Given the description of an element on the screen output the (x, y) to click on. 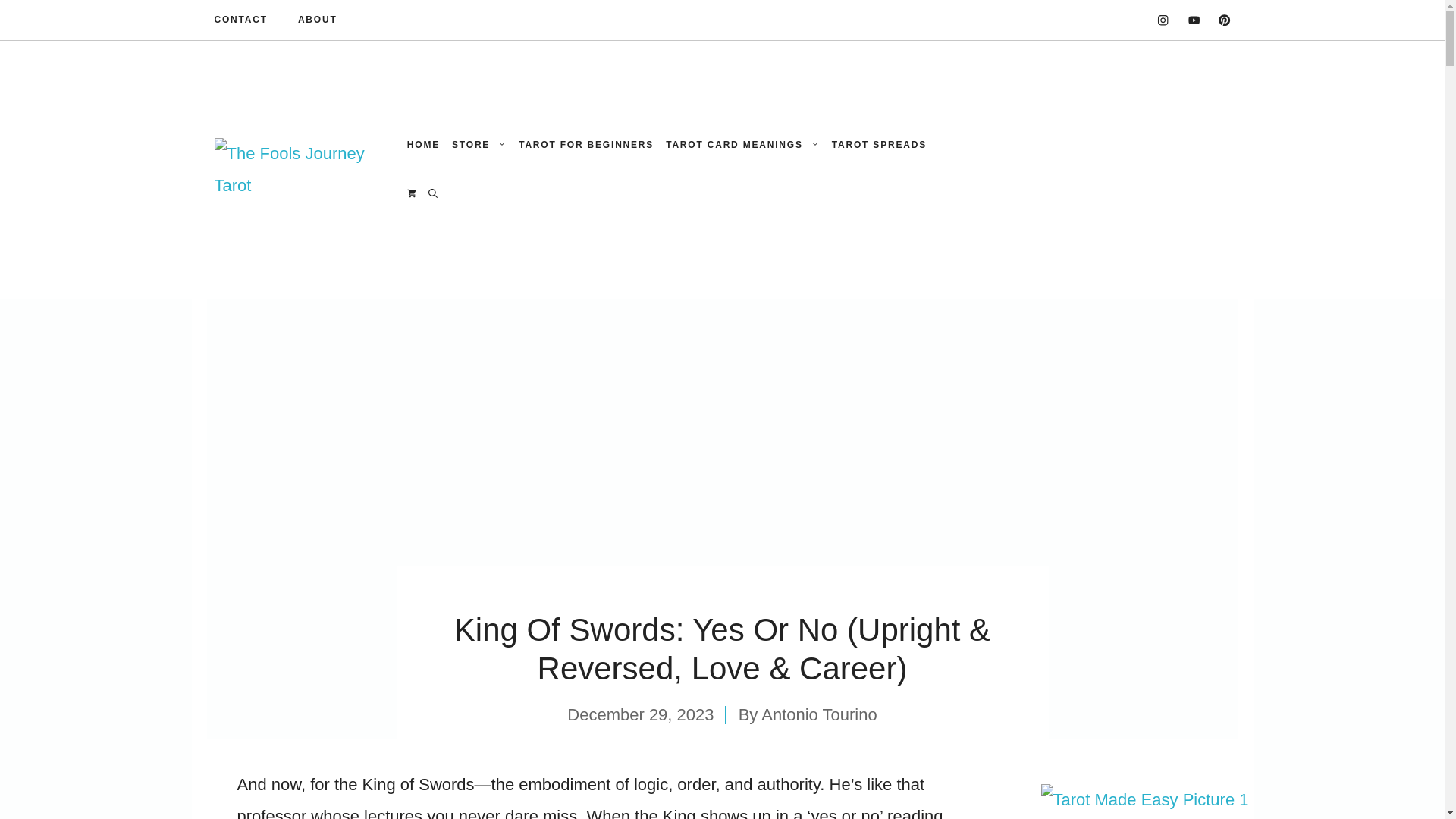
Antonio Tourino (819, 714)
CONTACT (240, 19)
STORE (478, 144)
HOME (423, 144)
TAROT SPREADS (879, 144)
ABOUT (317, 19)
TAROT FOR BEGINNERS (585, 144)
TAROT CARD MEANINGS (742, 144)
